Given the description of an element on the screen output the (x, y) to click on. 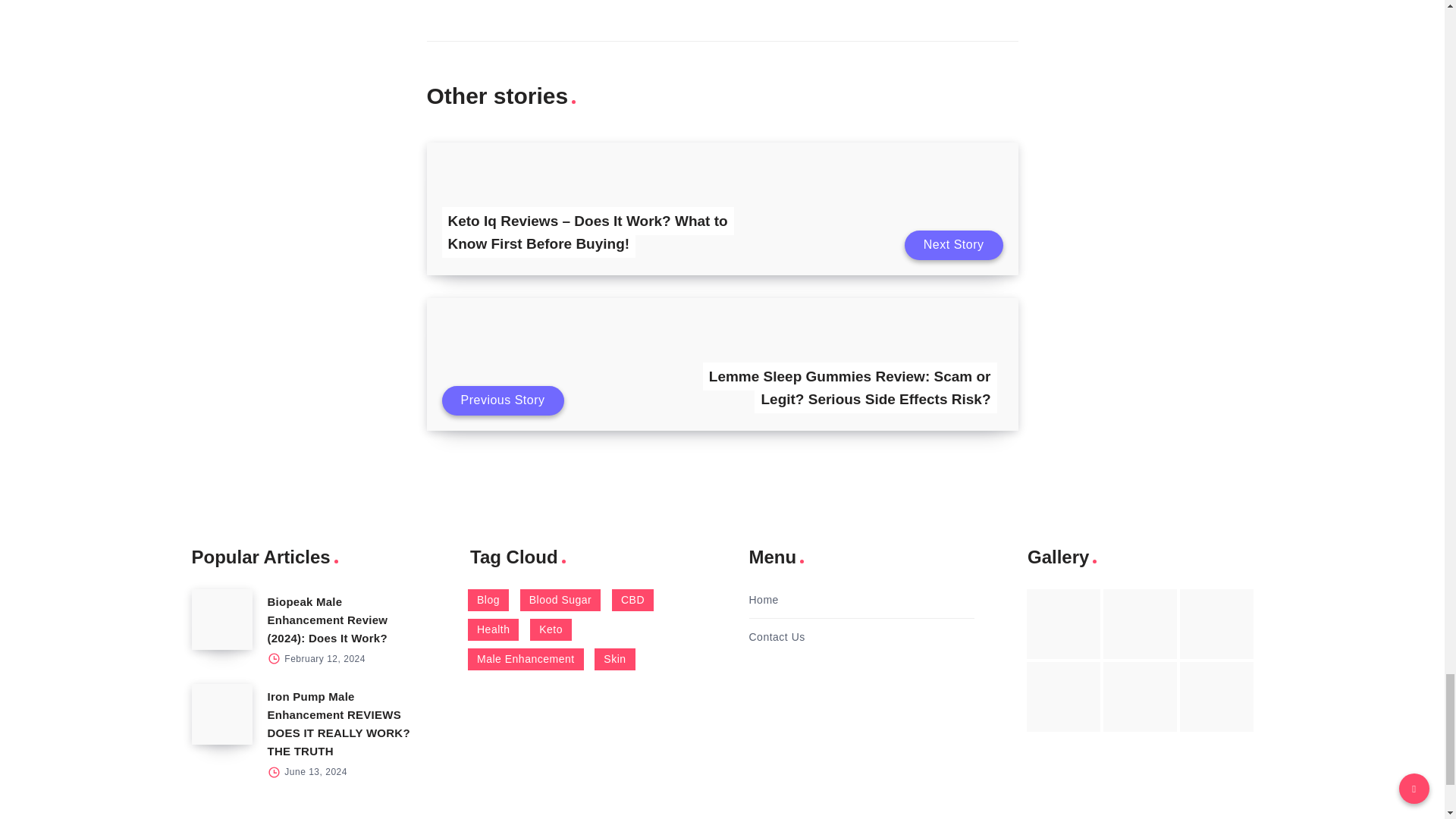
Pink paper over blue background (1063, 623)
Just a nice paint (1139, 696)
Retro Camera (1139, 623)
Old music caption (1216, 623)
